Given the description of an element on the screen output the (x, y) to click on. 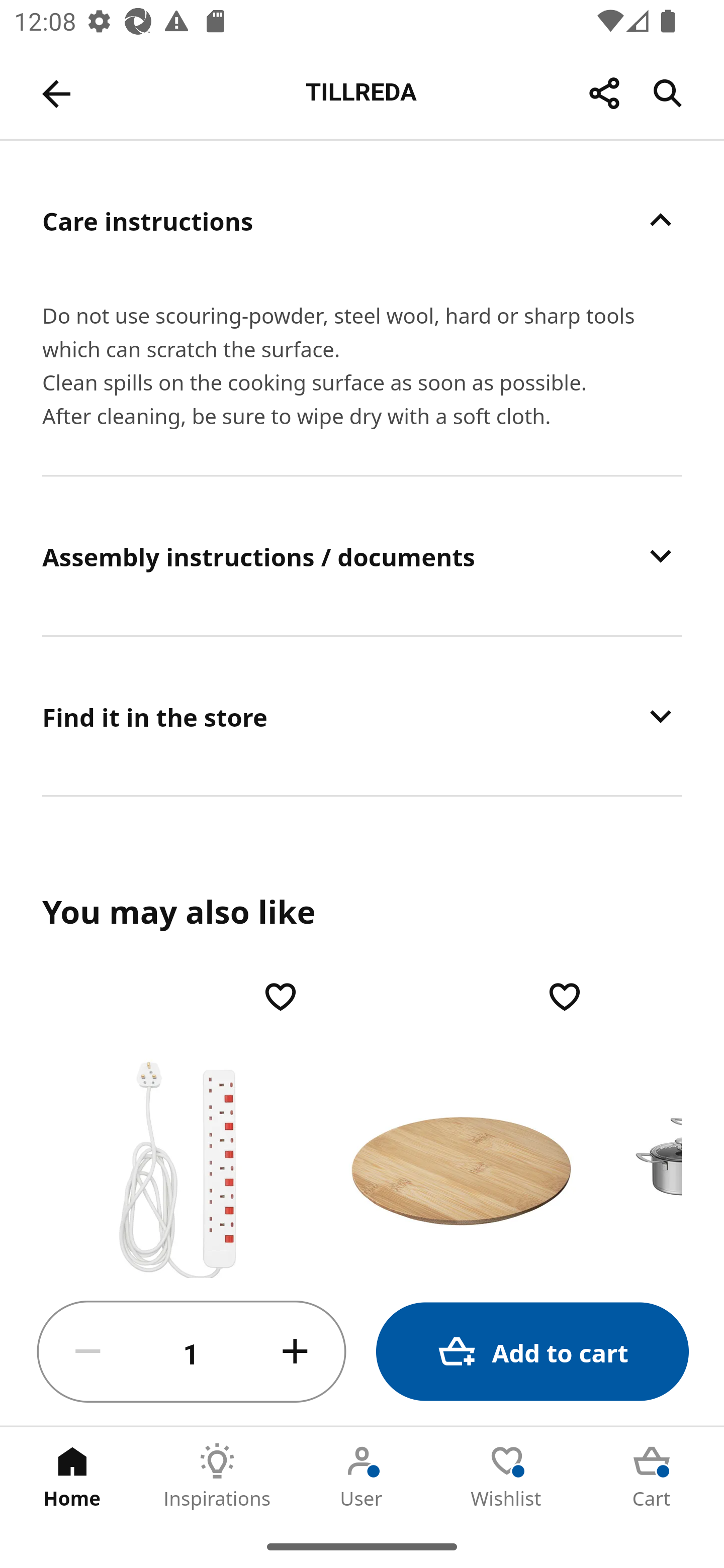
Care instructions (361, 219)
Assembly instructions / documents (361, 555)
Find it in the store (361, 715)
Add to cart (531, 1352)
1 (191, 1352)
Home
Tab 1 of 5 (72, 1476)
Inspirations
Tab 2 of 5 (216, 1476)
User
Tab 3 of 5 (361, 1476)
Wishlist
Tab 4 of 5 (506, 1476)
Cart
Tab 5 of 5 (651, 1476)
